Given the description of an element on the screen output the (x, y) to click on. 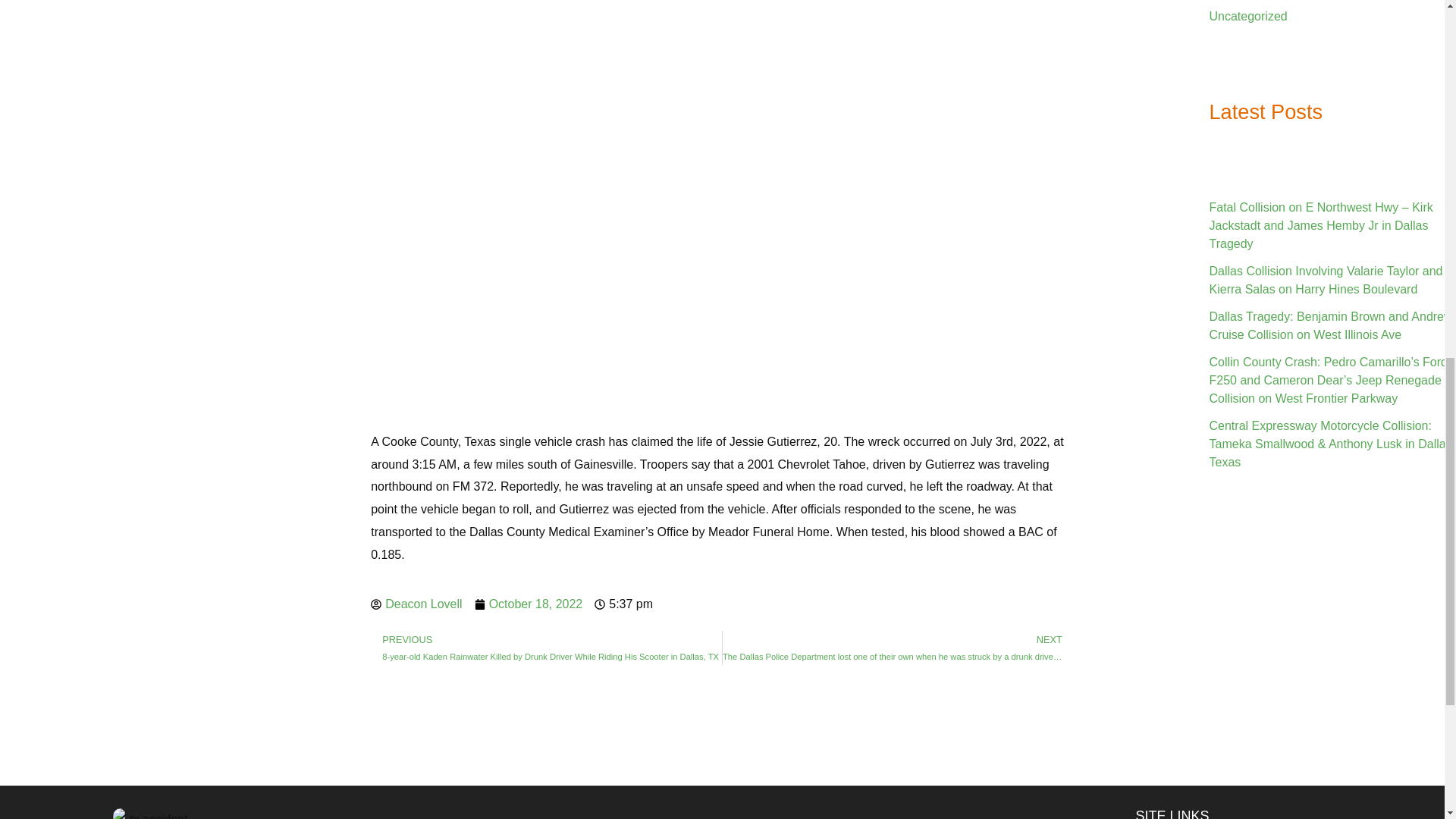
Deacon Lovell (416, 603)
October 18, 2022 (528, 603)
